Given the description of an element on the screen output the (x, y) to click on. 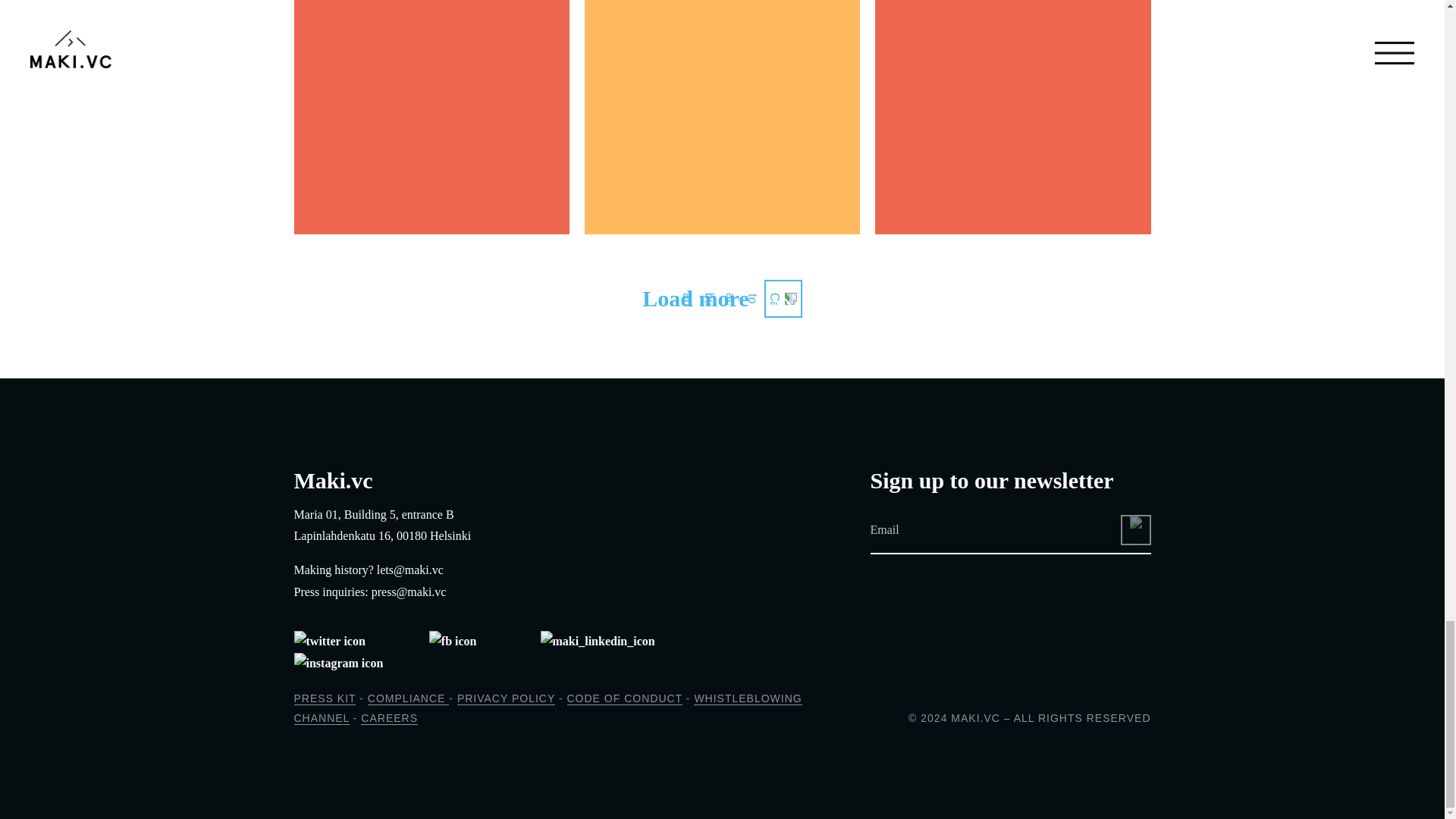
CODE OF CONDUCT (624, 698)
WHISTLEBLOWING CHANNEL (548, 707)
CAREERS (389, 717)
COMPLIANCE (408, 698)
PRESS KIT (325, 698)
PRIVACY POLICY (505, 698)
